Given the description of an element on the screen output the (x, y) to click on. 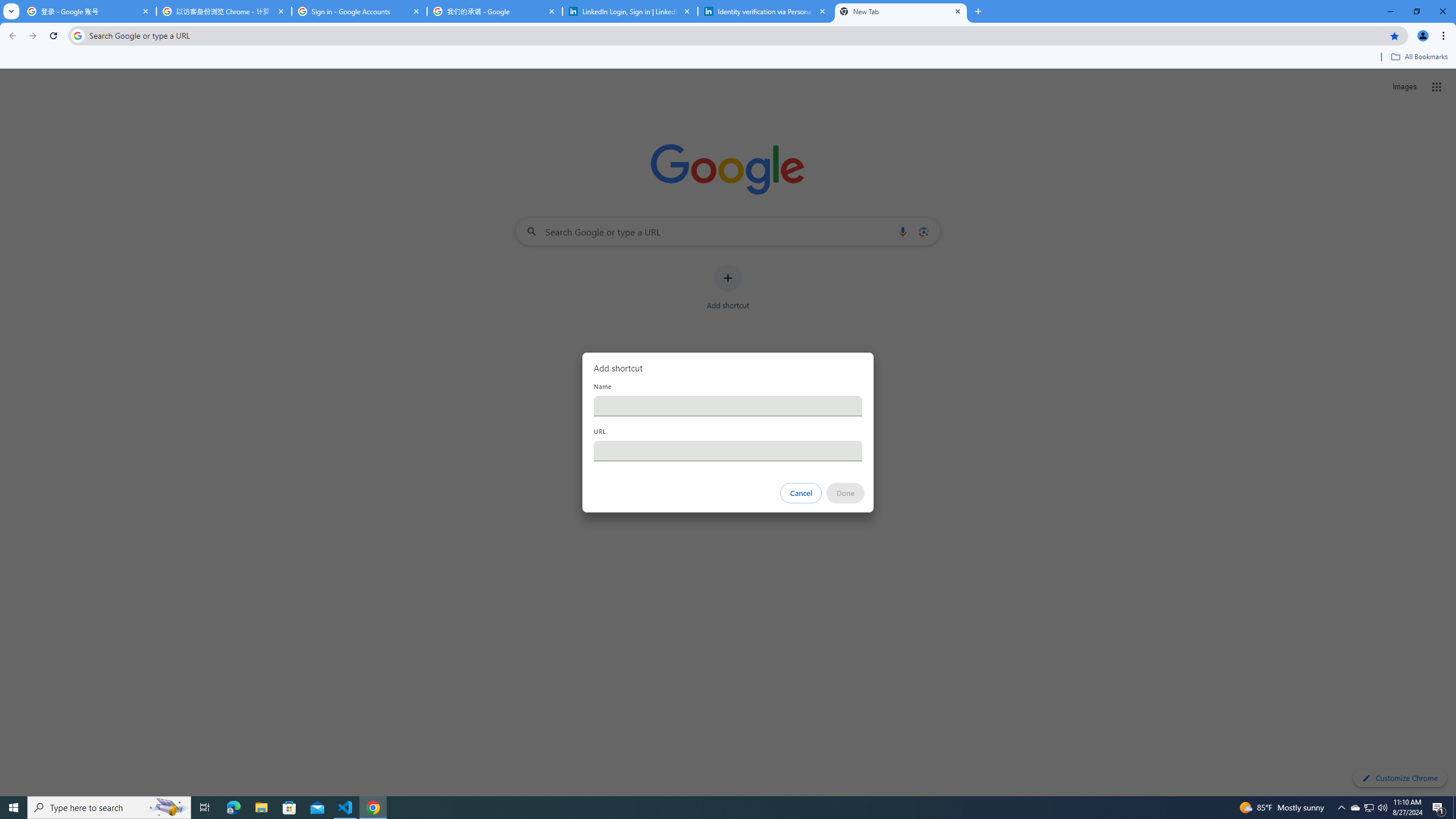
Sign in - Google Accounts (359, 11)
URL (727, 450)
